Given the description of an element on the screen output the (x, y) to click on. 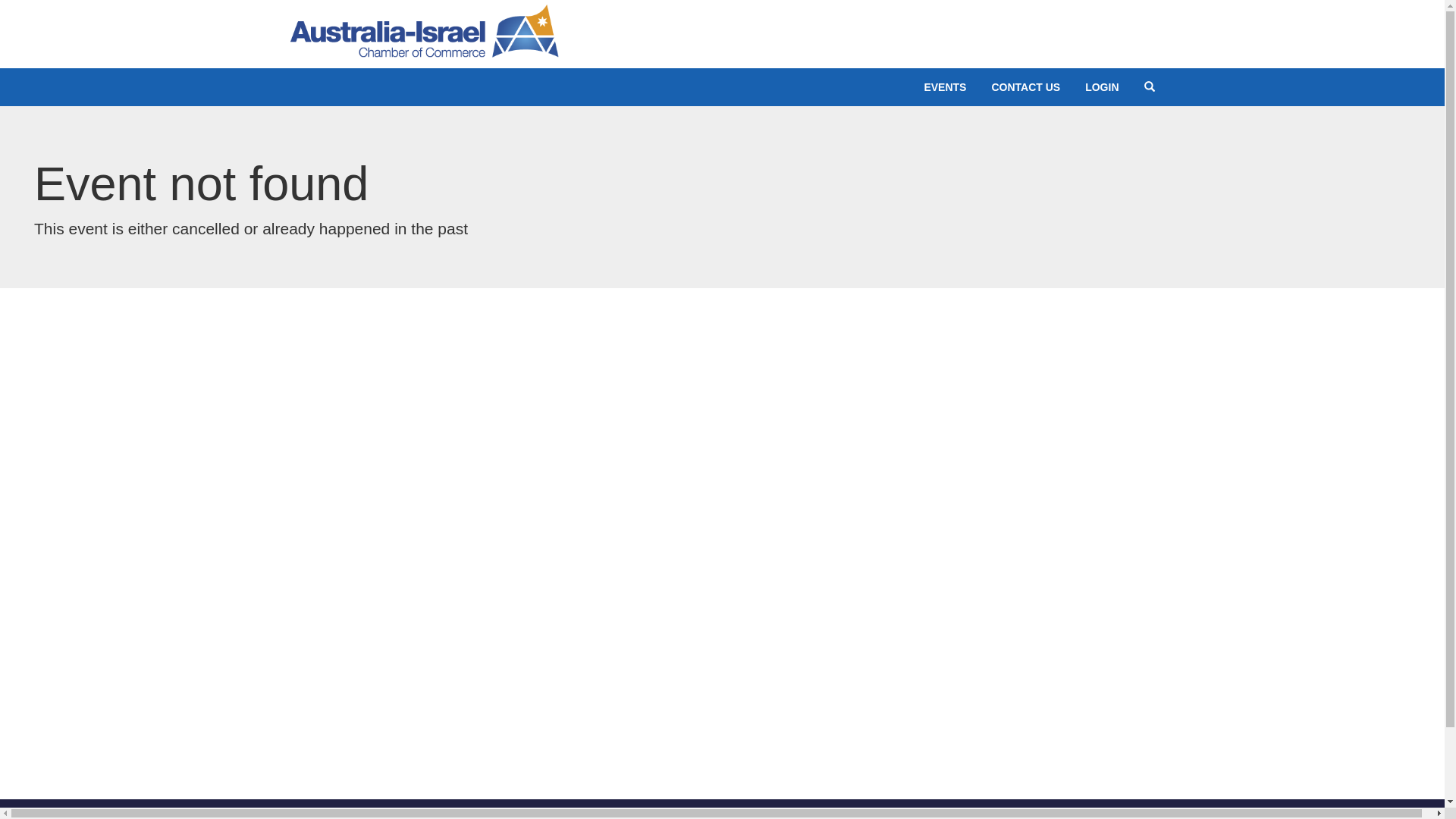
Search Element type: hover (1149, 87)
CONTACT US Element type: text (1025, 87)
LOGIN Element type: text (1101, 87)
EVENTS Element type: text (944, 87)
AICC Portal Element type: hover (423, 26)
